Given the description of an element on the screen output the (x, y) to click on. 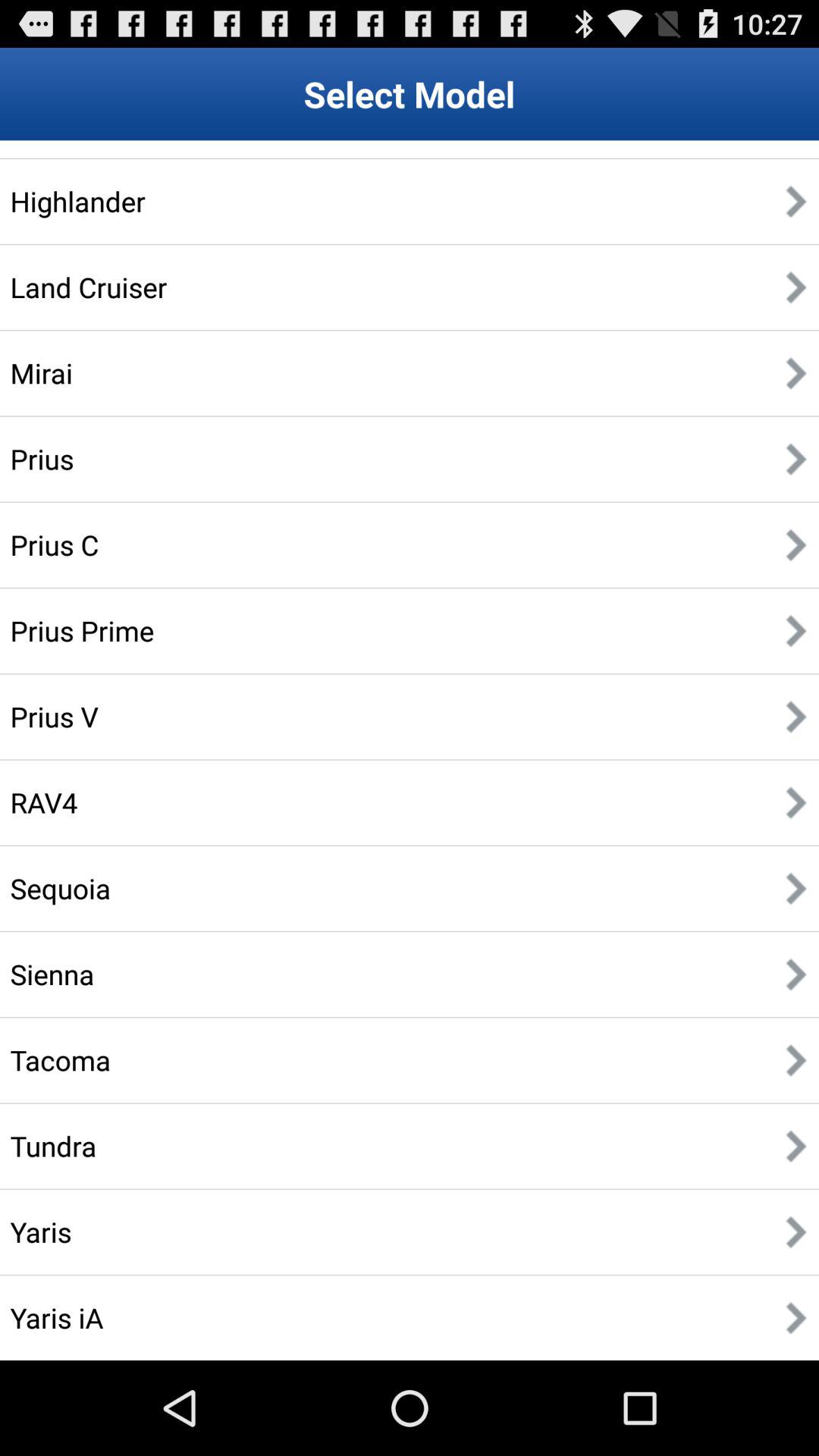
turn on the item above the prius prime (54, 544)
